Given the description of an element on the screen output the (x, y) to click on. 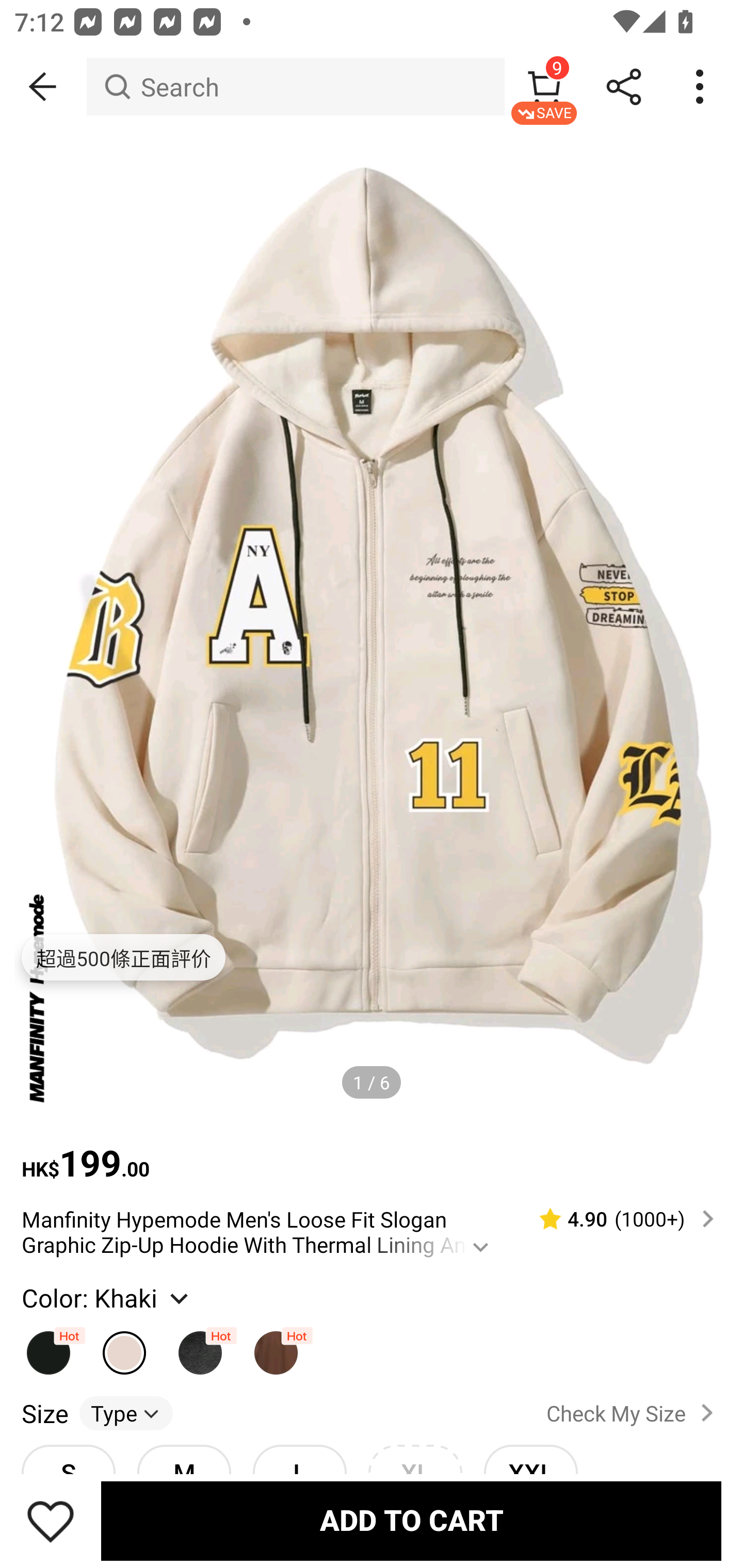
BACK (43, 86)
9 SAVE (543, 87)
Search (295, 87)
1 / 6 (371, 1082)
HK$199.00 (371, 1152)
4.90 (1000‎+) (617, 1219)
Color: Khaki (107, 1297)
Black (48, 1344)
Khaki (124, 1344)
Dark Grey (200, 1344)
Coffee Brown (276, 1344)
Size (44, 1412)
Type (126, 1412)
ADD TO CART (411, 1520)
Save (50, 1520)
